Given the description of an element on the screen output the (x, y) to click on. 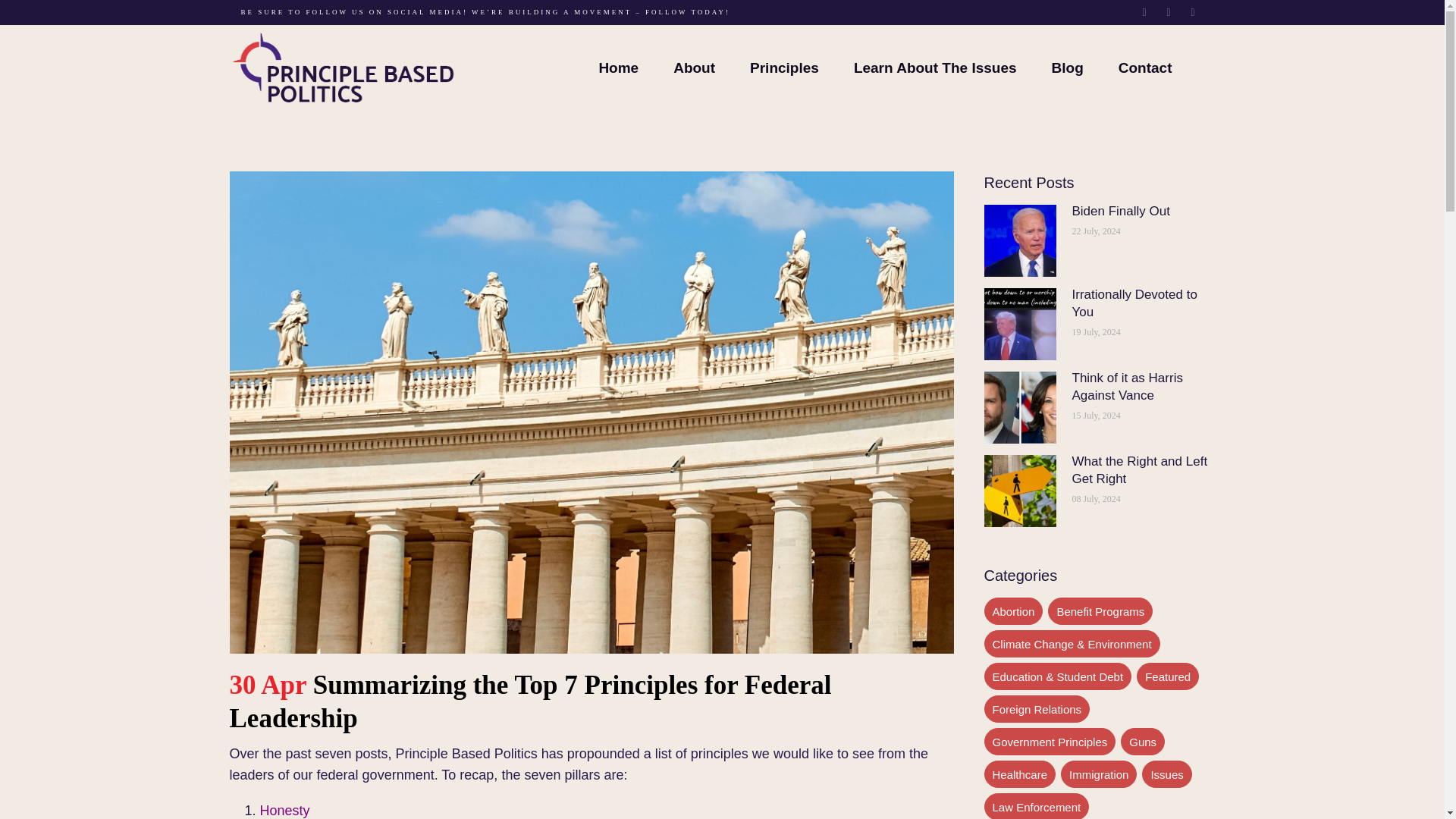
Learn About The Issues (934, 67)
Contact (1144, 67)
Principles (783, 67)
About (694, 67)
